Given the description of an element on the screen output the (x, y) to click on. 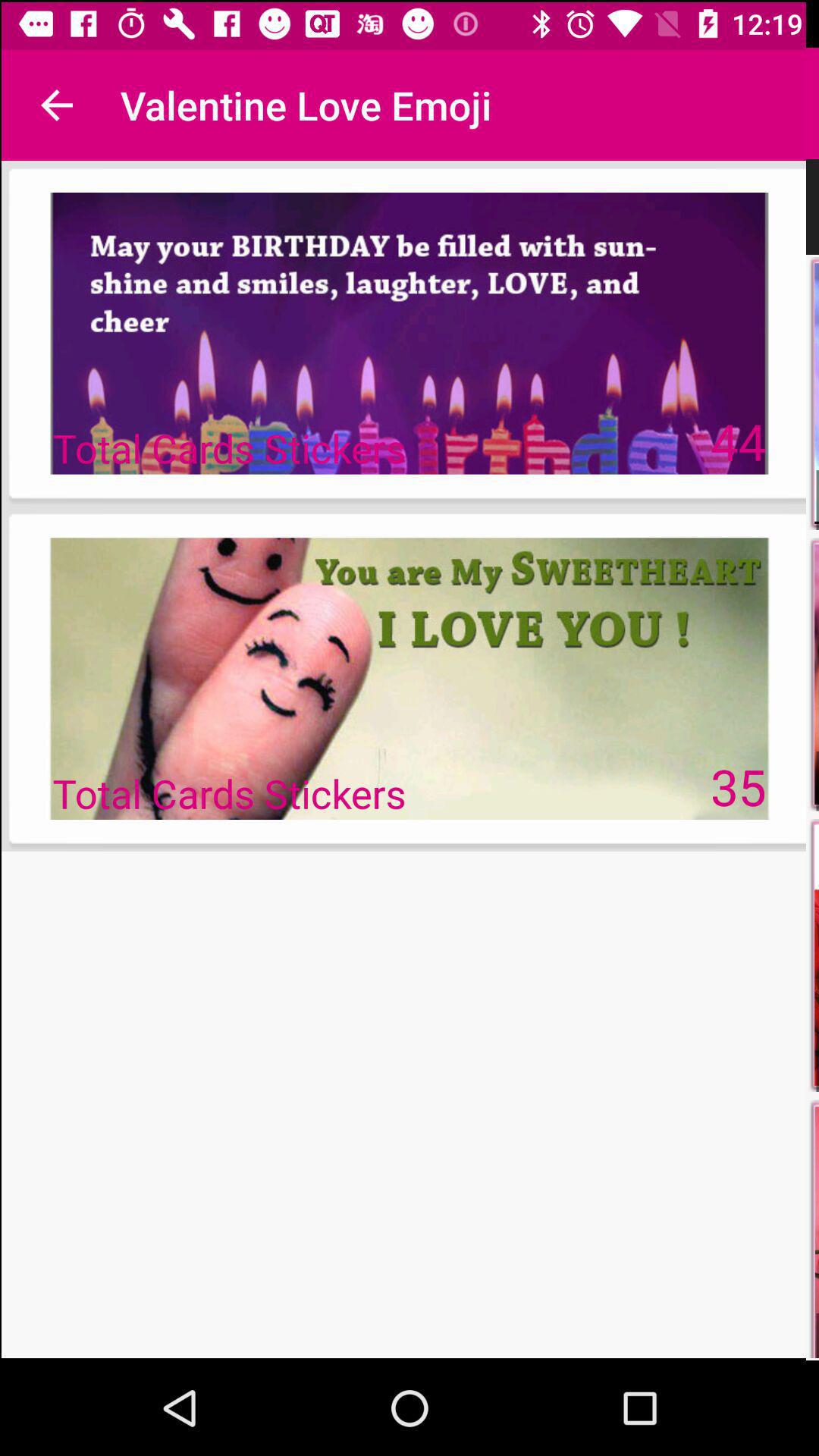
tap 35 (739, 786)
